Given the description of an element on the screen output the (x, y) to click on. 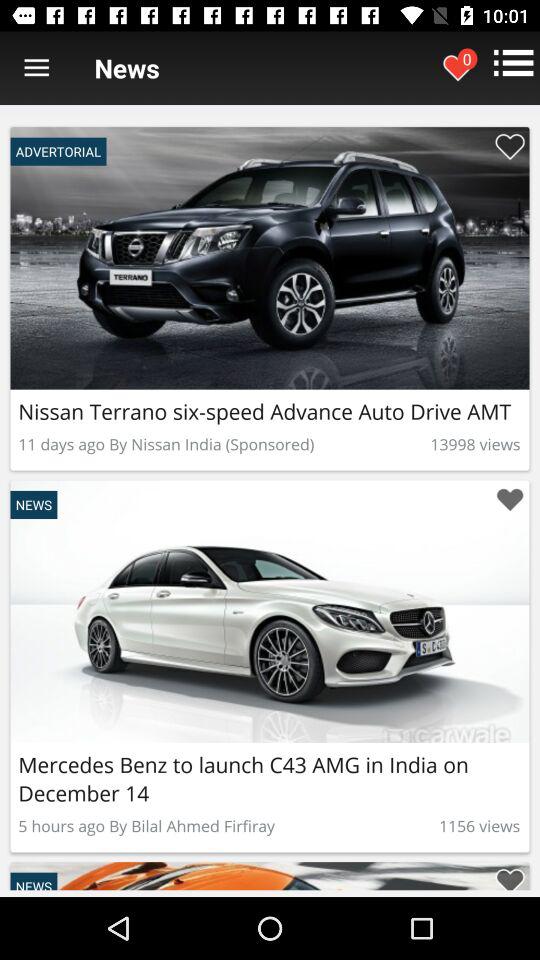
love favorite (509, 499)
